Given the description of an element on the screen output the (x, y) to click on. 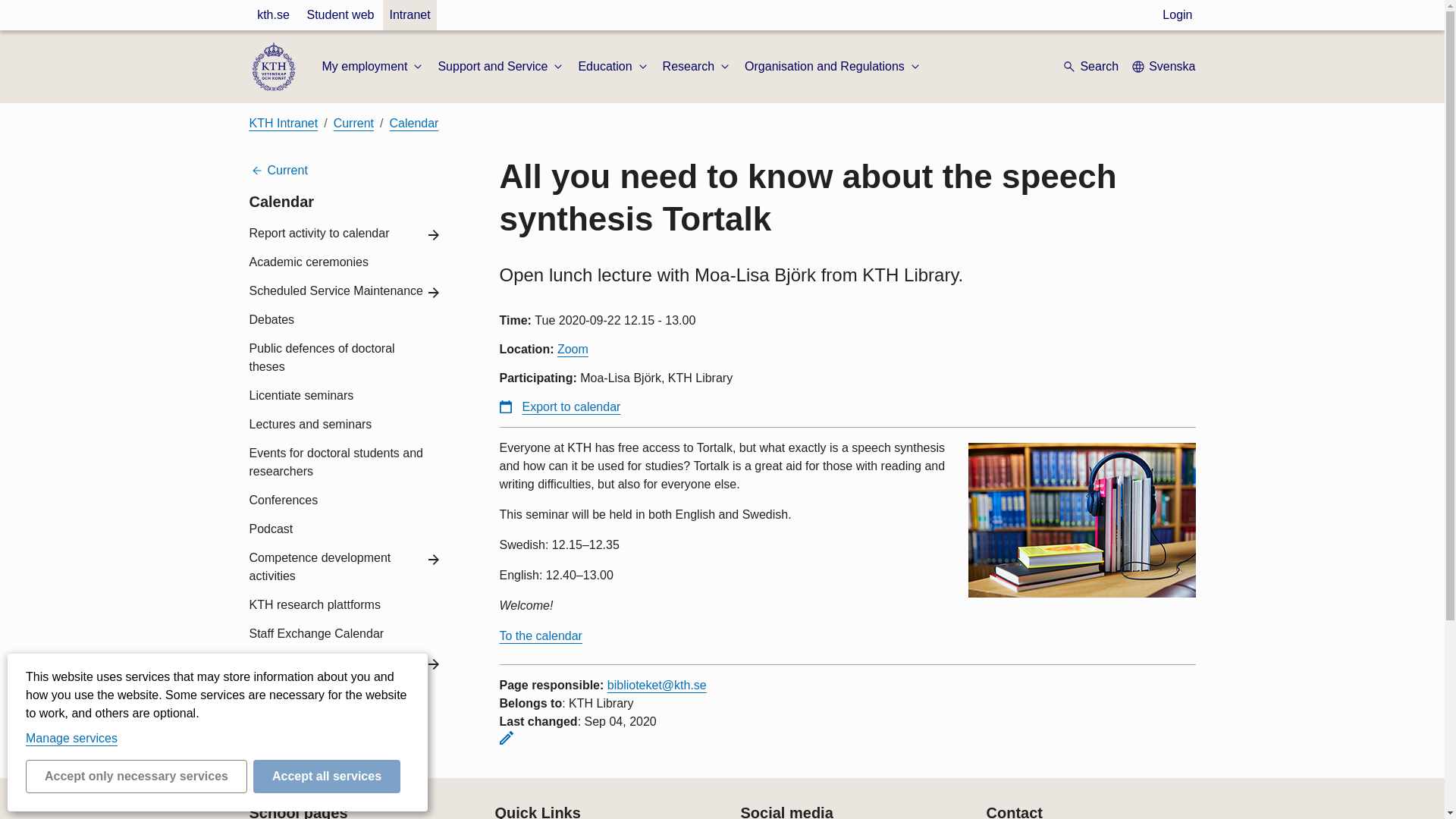
Organisation and Regulations (833, 66)
Support and Service (502, 66)
Login (1176, 15)
Intranet (408, 15)
Manage services (71, 738)
Student web (339, 15)
Research (697, 66)
Education (613, 66)
Accept all services (326, 776)
My employment (373, 66)
